Given the description of an element on the screen output the (x, y) to click on. 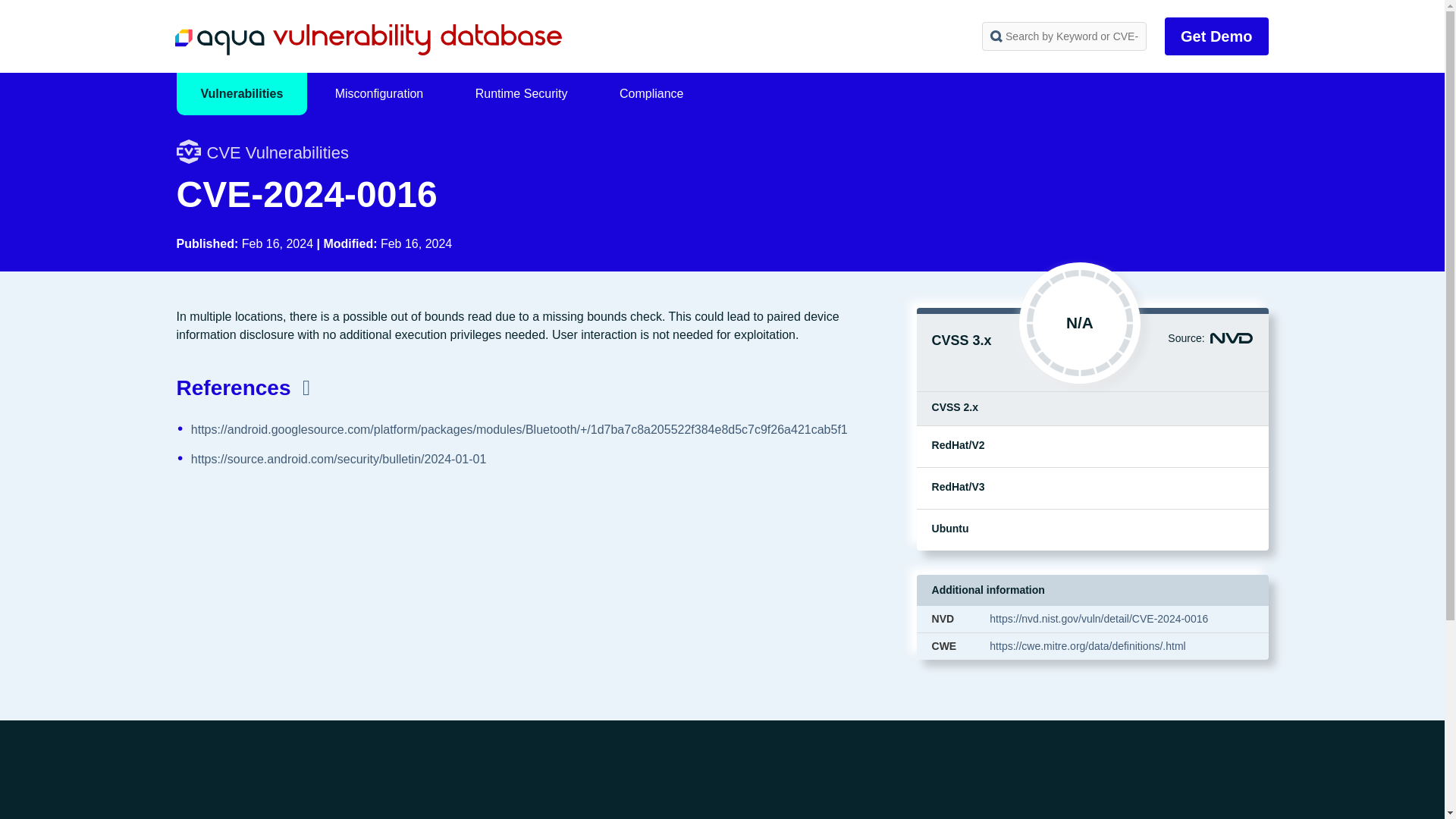
Compliance (651, 93)
Misconfiguration (379, 93)
Get Demo (1216, 36)
Aqua Vulnerability Database (367, 39)
Aqua Vulnerability Database (367, 39)
Runtime Security (521, 93)
Vulnerabilities (241, 93)
